Given the description of an element on the screen output the (x, y) to click on. 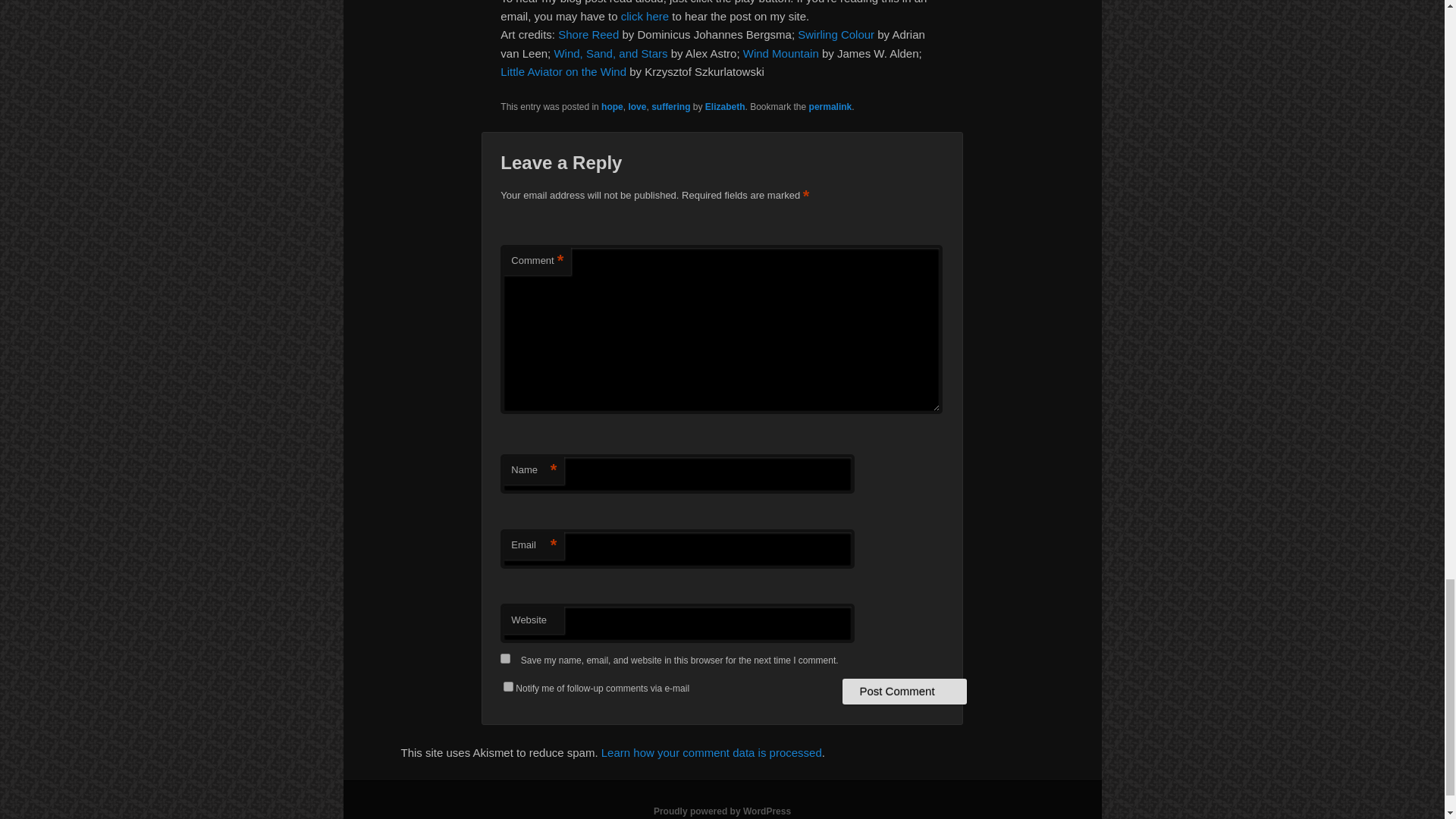
Proudly powered by WordPress (721, 810)
Learn how your comment data is processed (711, 752)
Post Comment (904, 691)
Swirling Colour (836, 33)
Wind, Sand, and Stars (609, 52)
yes (505, 658)
suffering (670, 106)
permalink (830, 106)
Permalink to Look Up and See the Wind (830, 106)
Elizabeth (724, 106)
hope (612, 106)
Post Comment (904, 691)
love (636, 106)
Little Aviator on the Wind (563, 71)
Wind Mountain (780, 52)
